Given the description of an element on the screen output the (x, y) to click on. 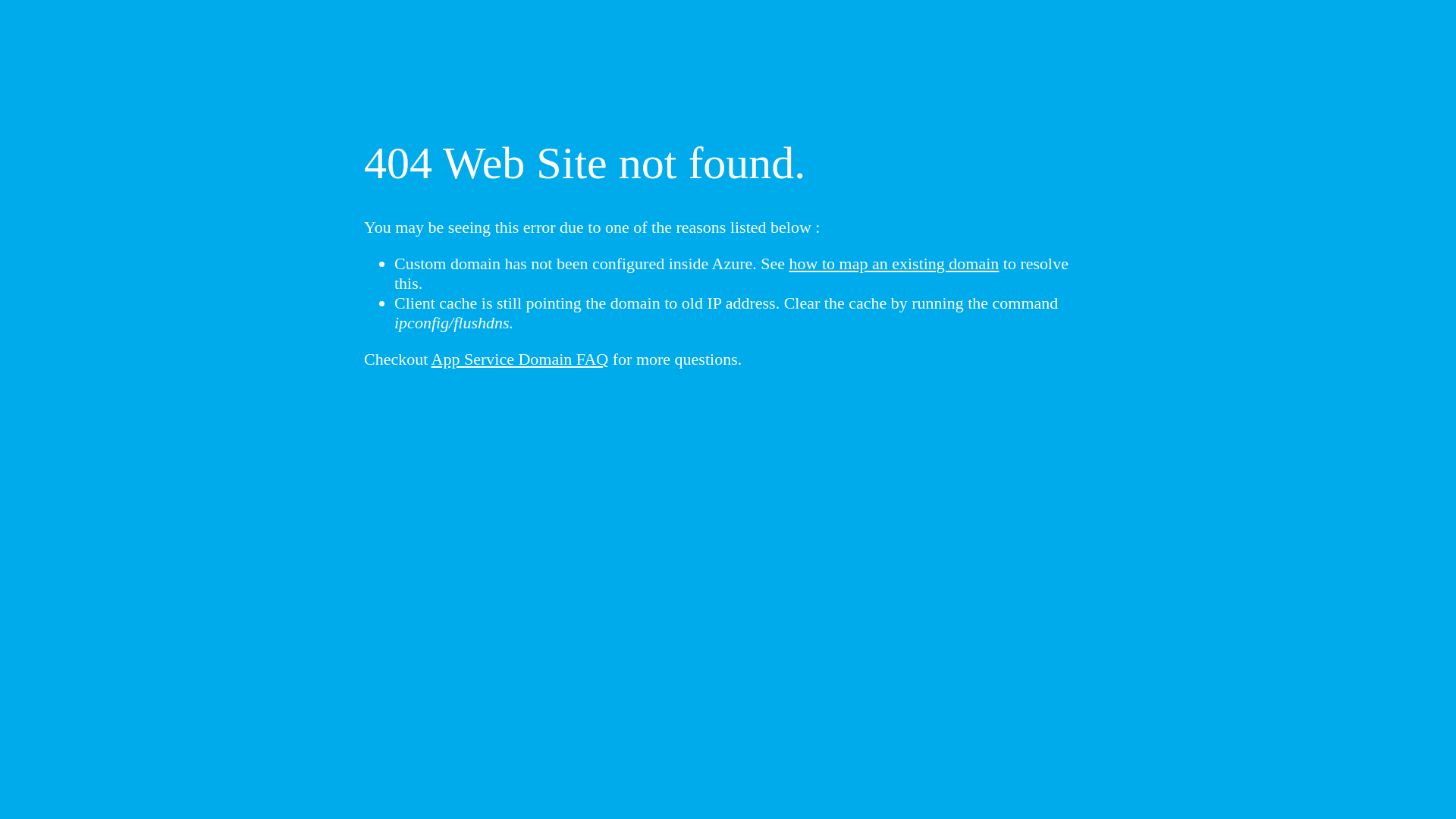
App Service Domain FAQ Element type: text (519, 358)
how to map an existing domain Element type: text (894, 263)
